Given the description of an element on the screen output the (x, y) to click on. 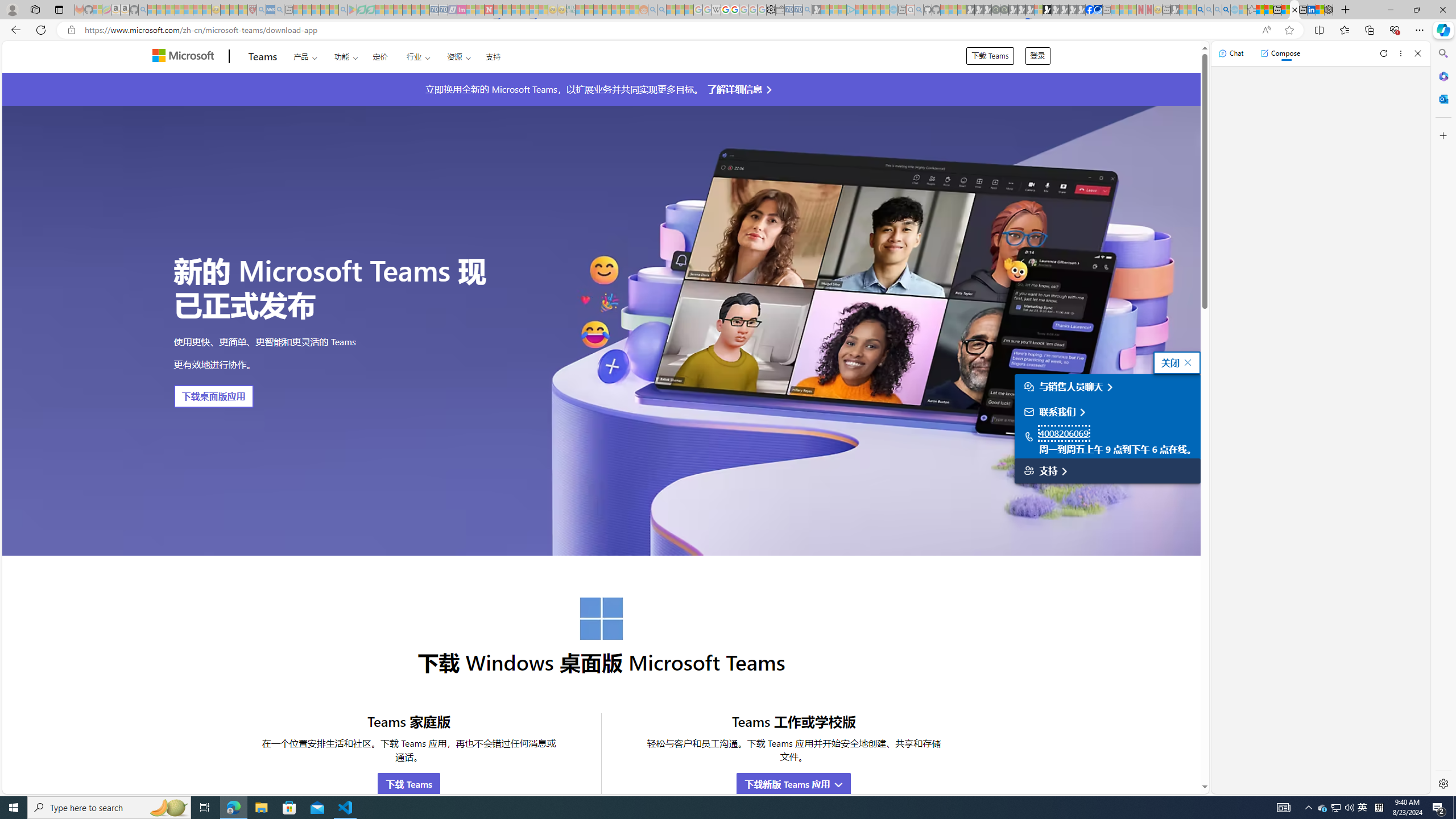
Privacy Help Center - Policies Help (725, 9)
Future Focus Report 2024 - Sleeping (1004, 9)
